Given the description of an element on the screen output the (x, y) to click on. 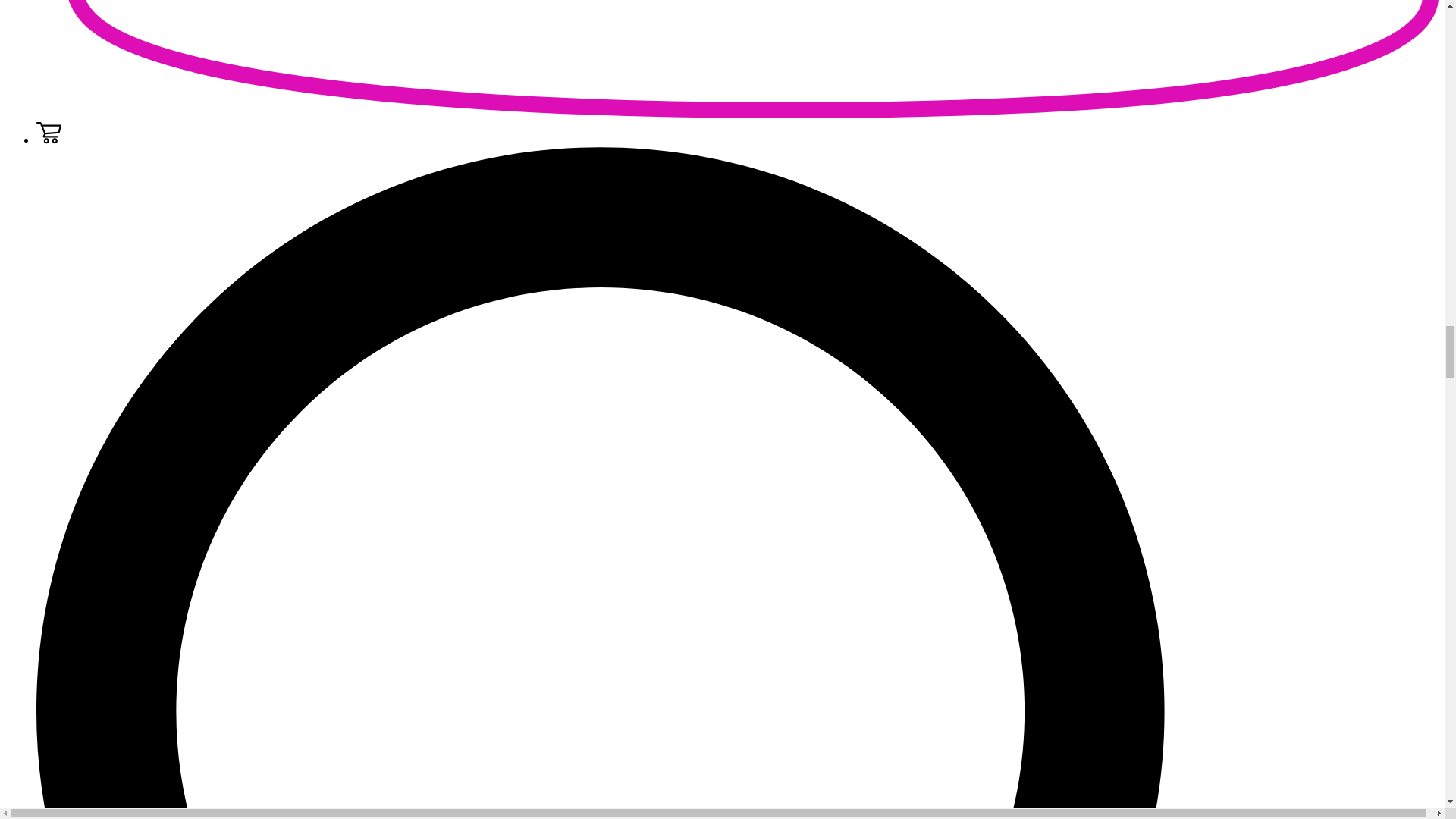
0 (48, 139)
